Given the description of an element on the screen output the (x, y) to click on. 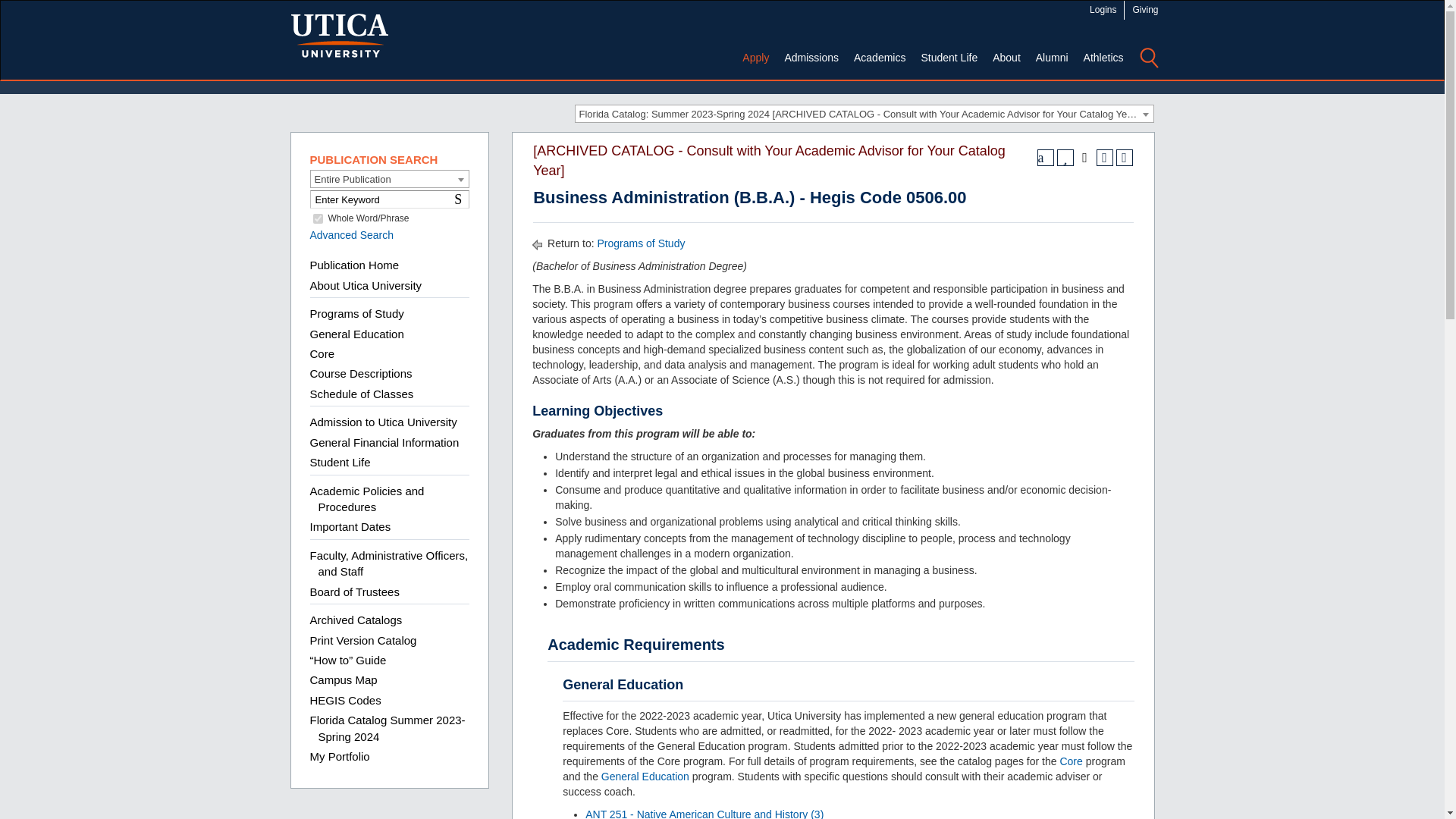
Choose Search Location (388, 178)
1 (317, 218)
Entire Publication (389, 179)
Search Keyword Field, required (388, 199)
Student Life (948, 57)
Apply (755, 57)
Athletics (1103, 57)
Academics (878, 57)
Admissions (810, 57)
